Given the description of an element on the screen output the (x, y) to click on. 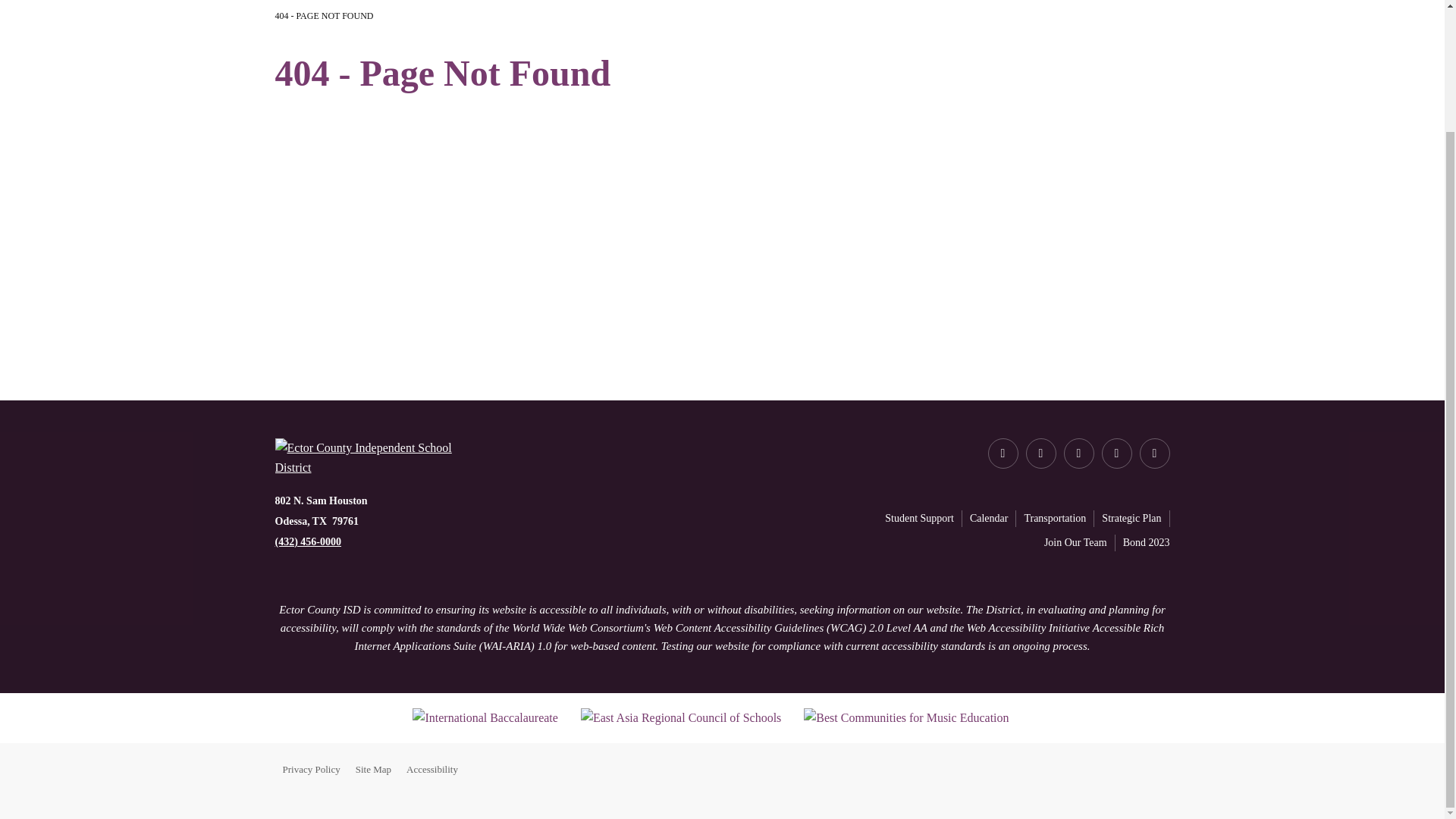
Powered by Finalsite opens in a new window (1118, 768)
